Given the description of an element on the screen output the (x, y) to click on. 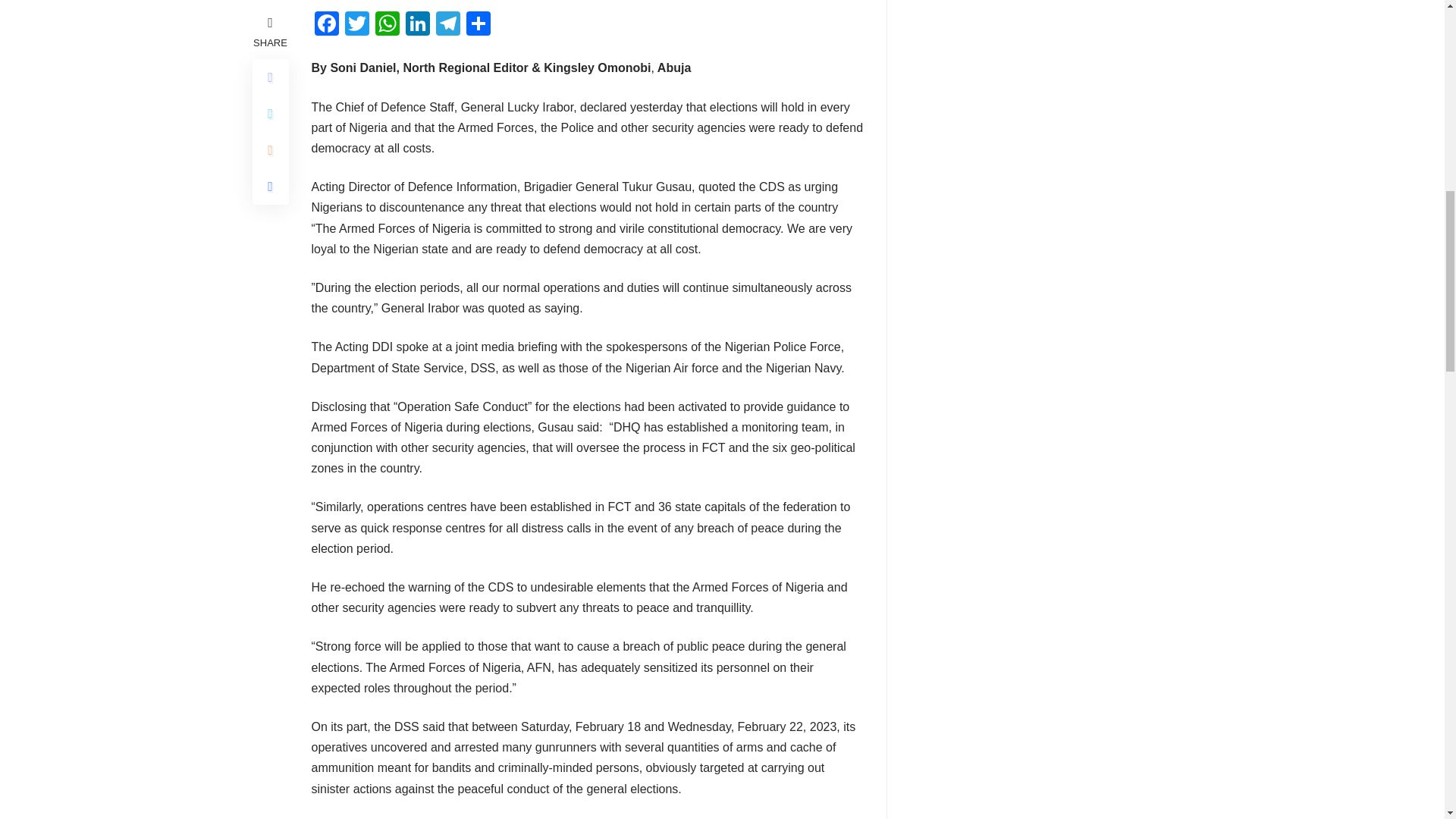
Facebook (325, 25)
Twitter (355, 25)
WhatsApp (386, 25)
